Given the description of an element on the screen output the (x, y) to click on. 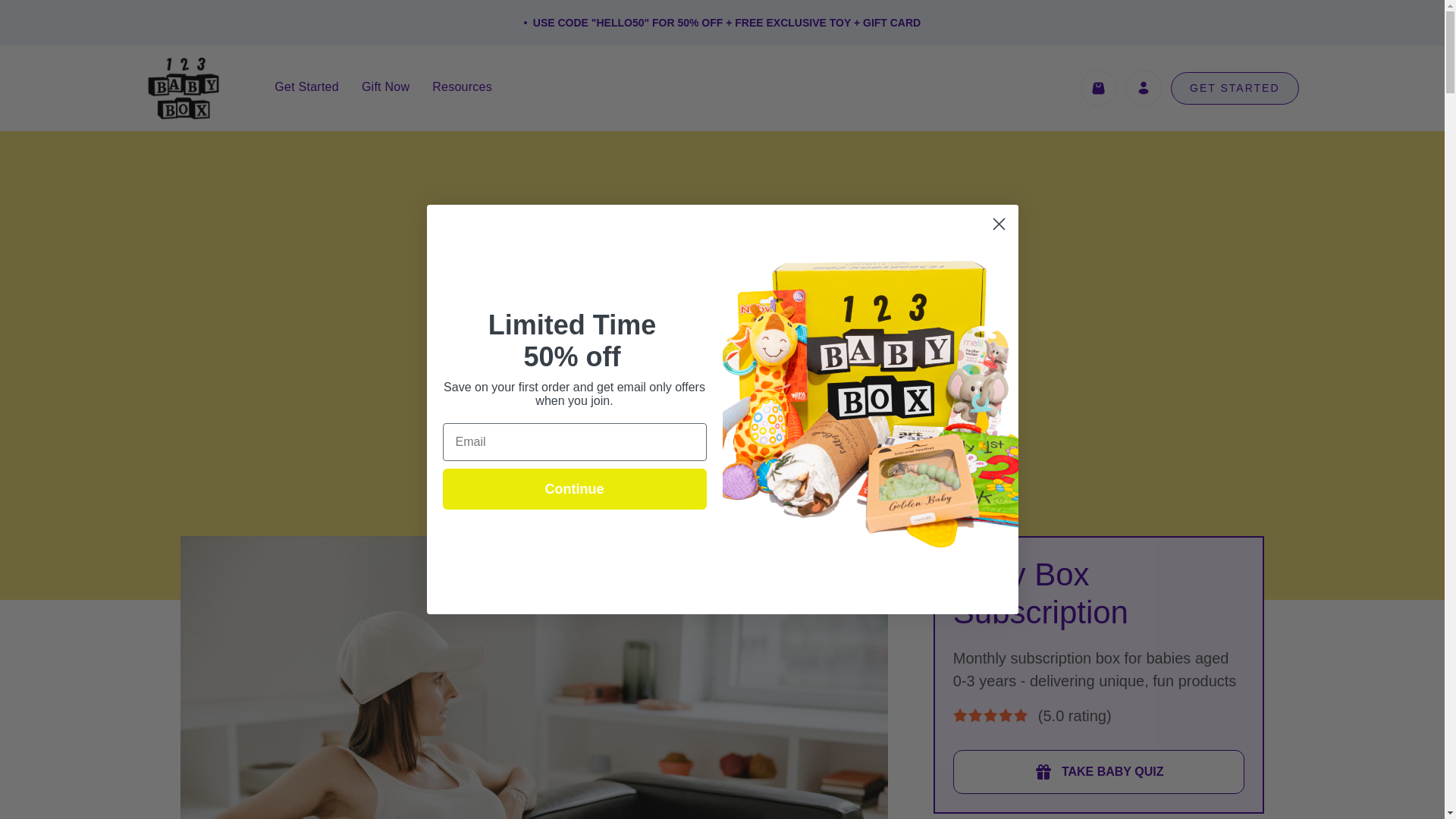
Get Started (306, 86)
Gift Now (384, 86)
TAKE OUR BABY QUIZ (722, 436)
Resources (462, 86)
TAKE BABY QUIZ (1098, 771)
GET STARTED (1234, 88)
